Given the description of an element on the screen output the (x, y) to click on. 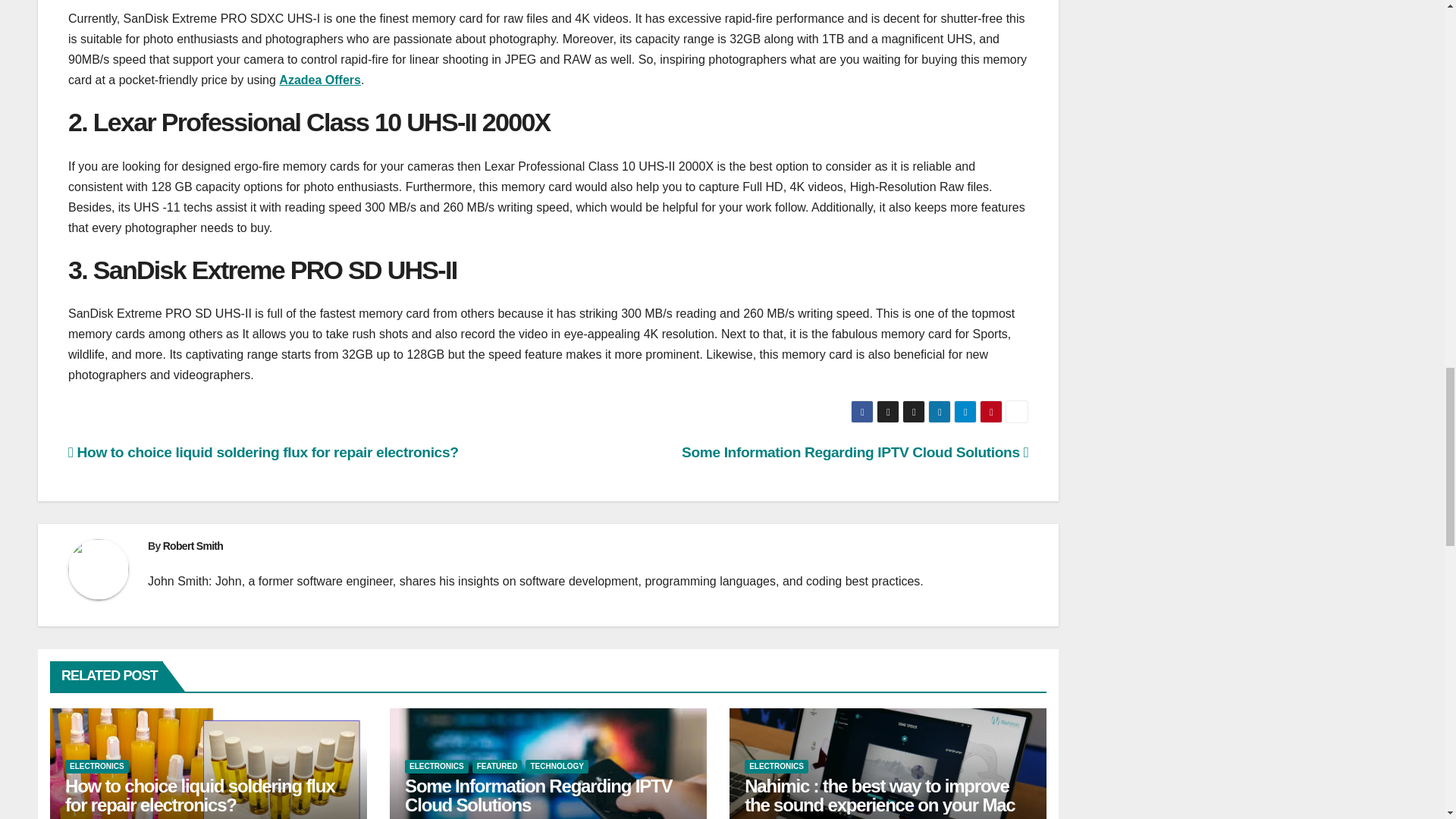
ELECTRONICS (436, 766)
Azadea Offers (320, 79)
ELECTRONICS (776, 766)
ELECTRONICS (97, 766)
How to choice liquid soldering flux for repair electronics? (263, 452)
Some Information Regarding IPTV Cloud Solutions (537, 794)
Robert Smith (193, 545)
TECHNOLOGY (556, 766)
FEATURED (496, 766)
Some Information Regarding IPTV Cloud Solutions (854, 452)
How to choice liquid soldering flux for repair electronics? (199, 794)
